Given the description of an element on the screen output the (x, y) to click on. 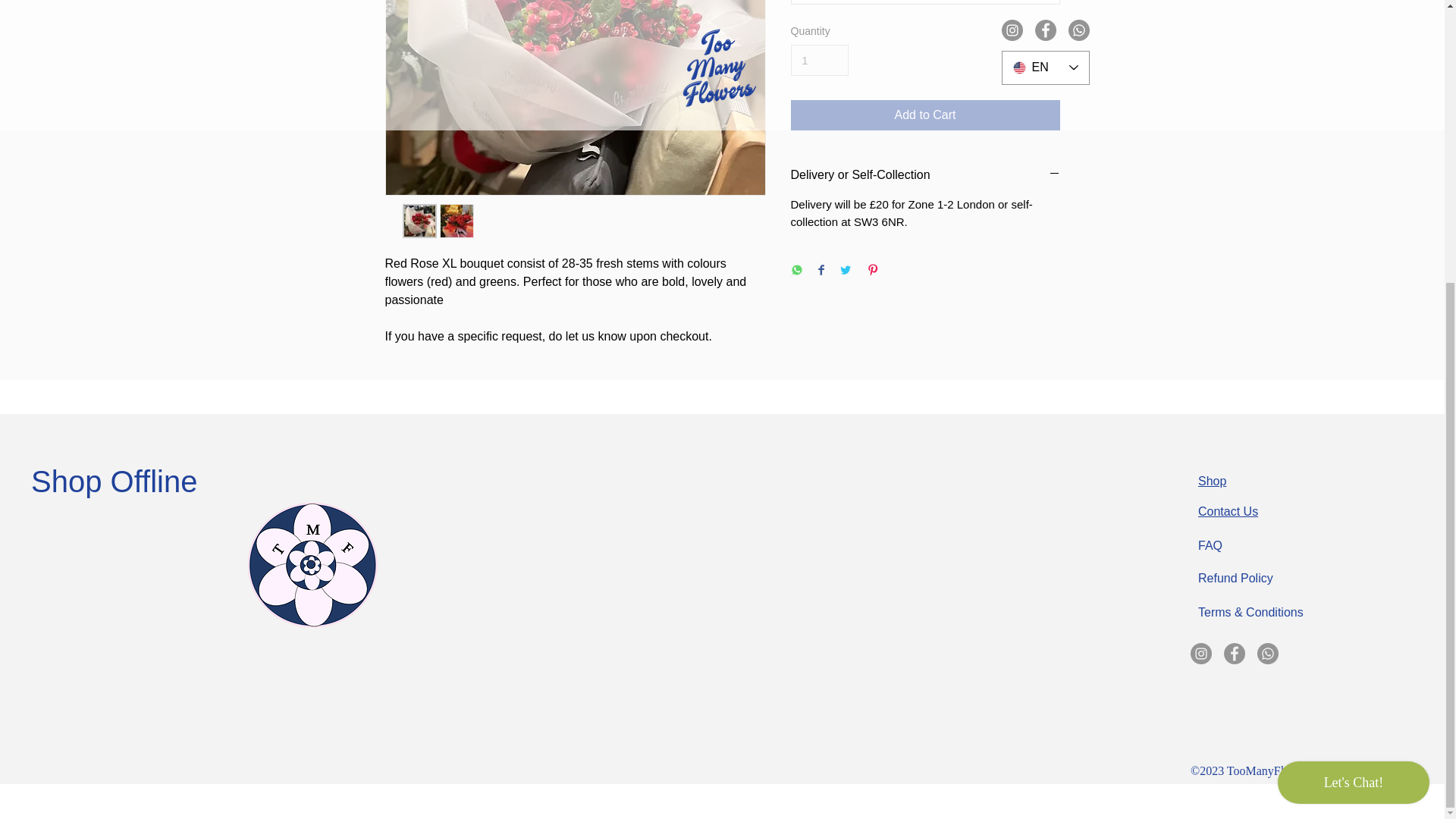
1 (818, 60)
TMF LOGO2.png (313, 564)
Delivery or Self-Collection (924, 175)
Contact Us (1227, 511)
Shop (1211, 481)
Add to Cart (924, 114)
